Given the description of an element on the screen output the (x, y) to click on. 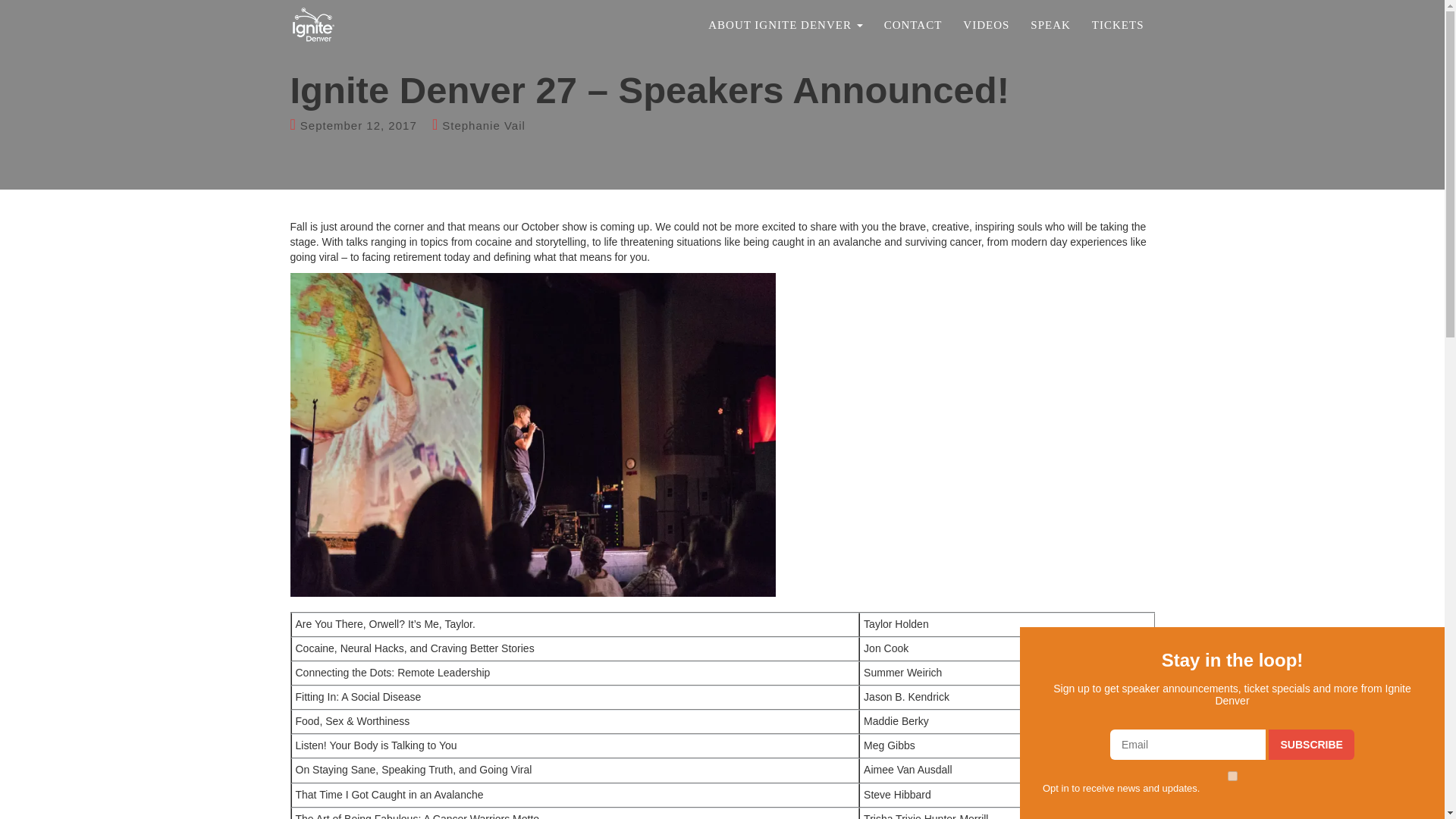
ABOUT IGNITE DENVER (784, 24)
September 12, 2017 (357, 124)
Speak (1050, 24)
SPEAK (1050, 24)
VIDEOS (986, 24)
Stephanie Vail (483, 124)
Tickets (1117, 24)
TICKETS (1117, 24)
Videos (986, 24)
Contact (913, 24)
CONTACT (913, 24)
Ignite Denver (314, 18)
About Ignite Denver (784, 24)
